Given the description of an element on the screen output the (x, y) to click on. 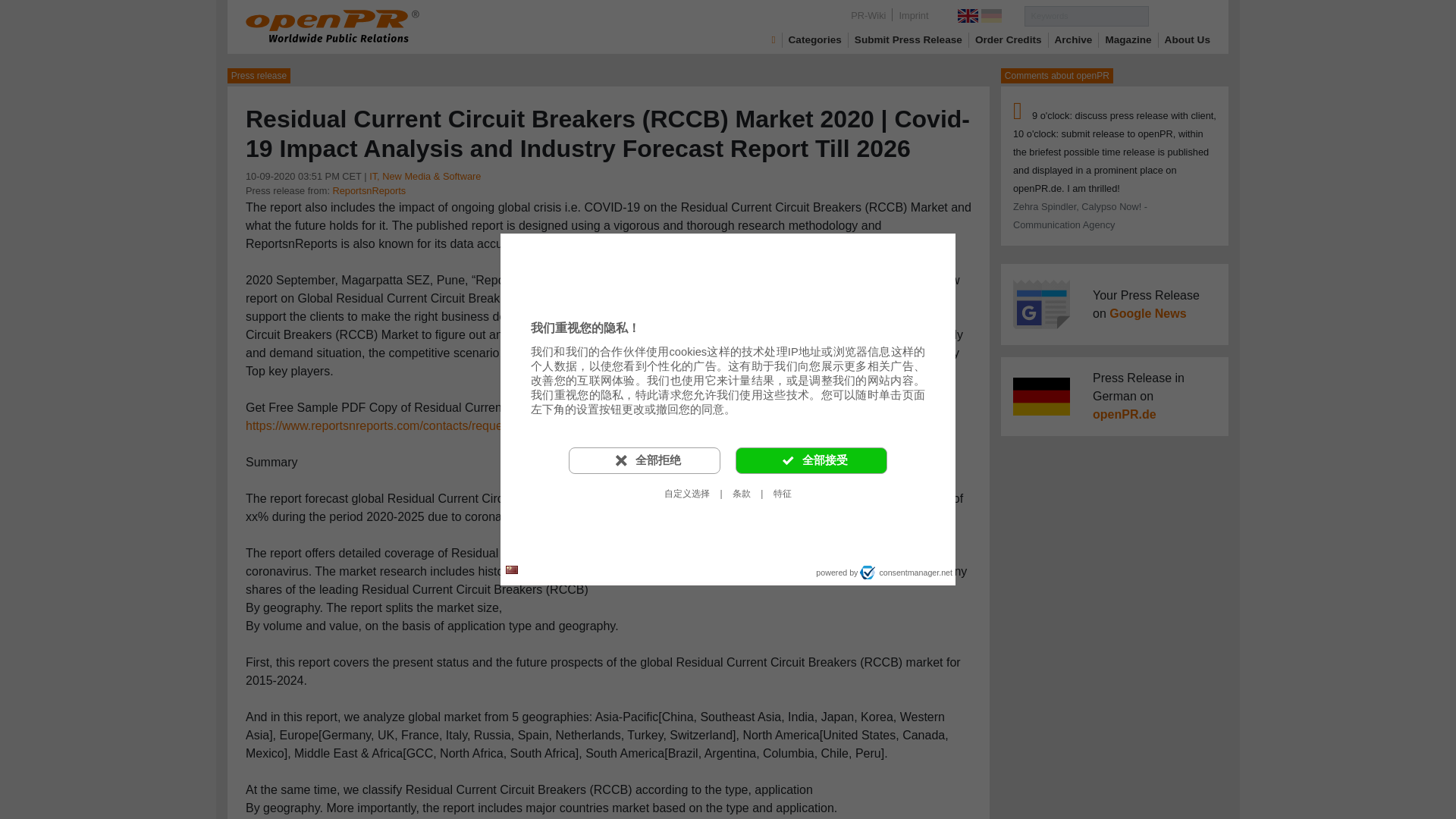
archive und pressrelease of ReportsnReports (368, 190)
Language: zh (511, 569)
Categories (815, 39)
Submit Press Release (908, 39)
Imprint (913, 15)
Magazine (1128, 39)
PR-Wiki (867, 15)
Order Credits (1008, 39)
About Us (1186, 39)
consentmanager.net (906, 572)
